Given the description of an element on the screen output the (x, y) to click on. 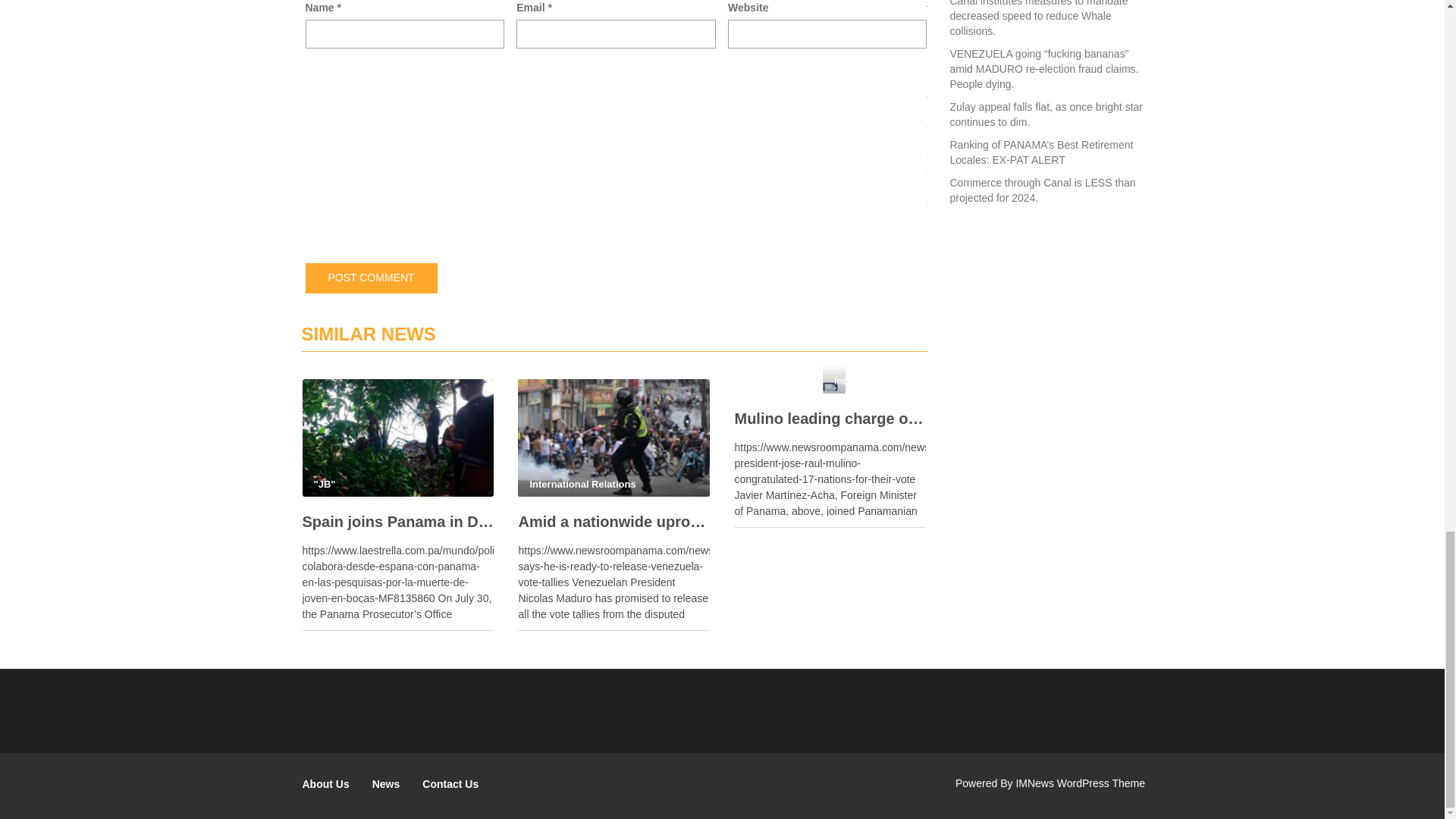
About Us (326, 783)
Post Comment (370, 277)
Commerce through Canal is LESS than projected for 2024. (1042, 189)
Post Comment (370, 277)
